Given the description of an element on the screen output the (x, y) to click on. 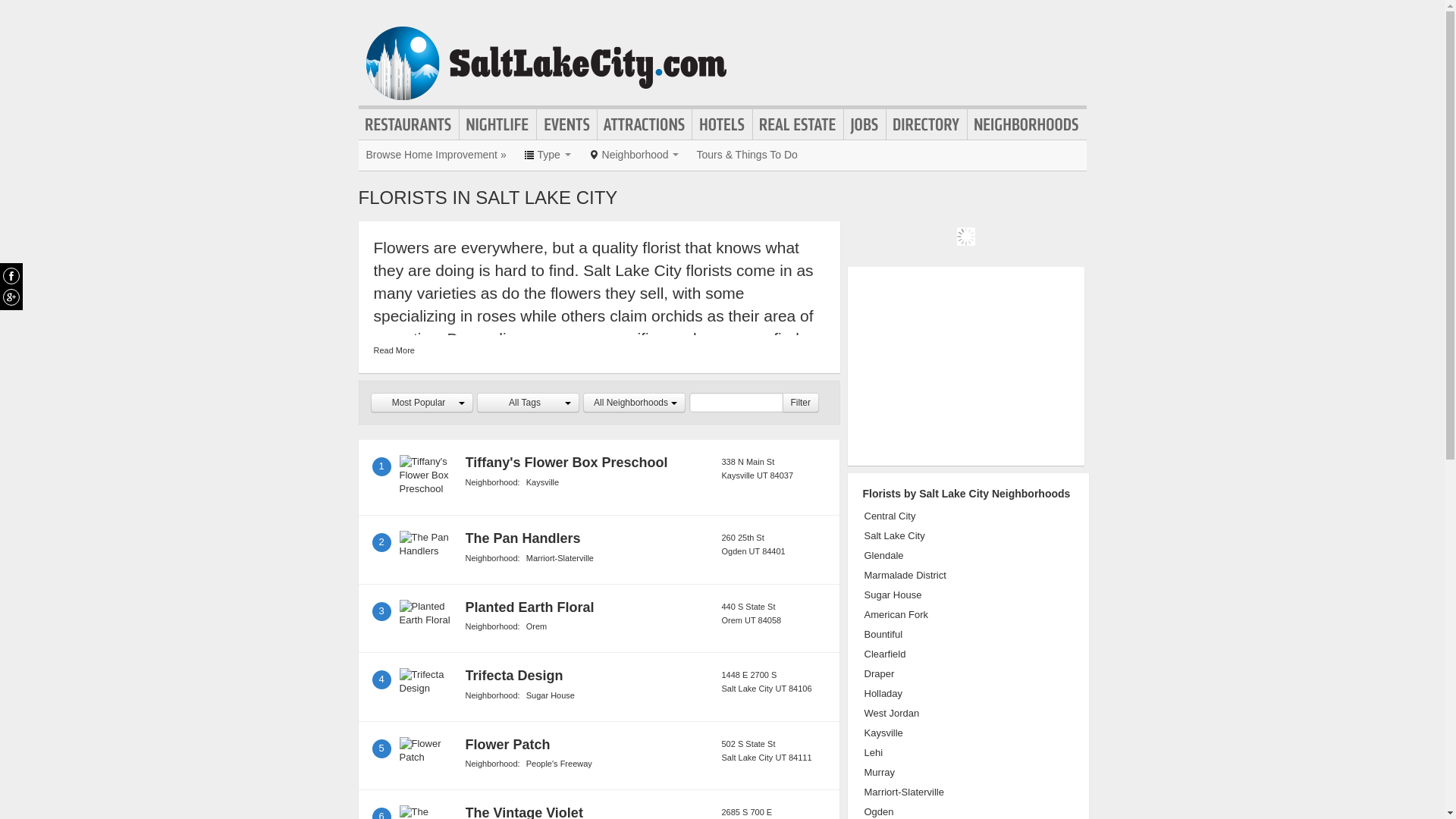
Attractions (643, 124)
Directory (926, 124)
Jobs (864, 124)
Hotels (722, 124)
Neighborhoods (1027, 124)
Real Estate (797, 124)
Type (547, 154)
Nightlife (497, 124)
Events (566, 124)
Restaurants (408, 124)
